Given the description of an element on the screen output the (x, y) to click on. 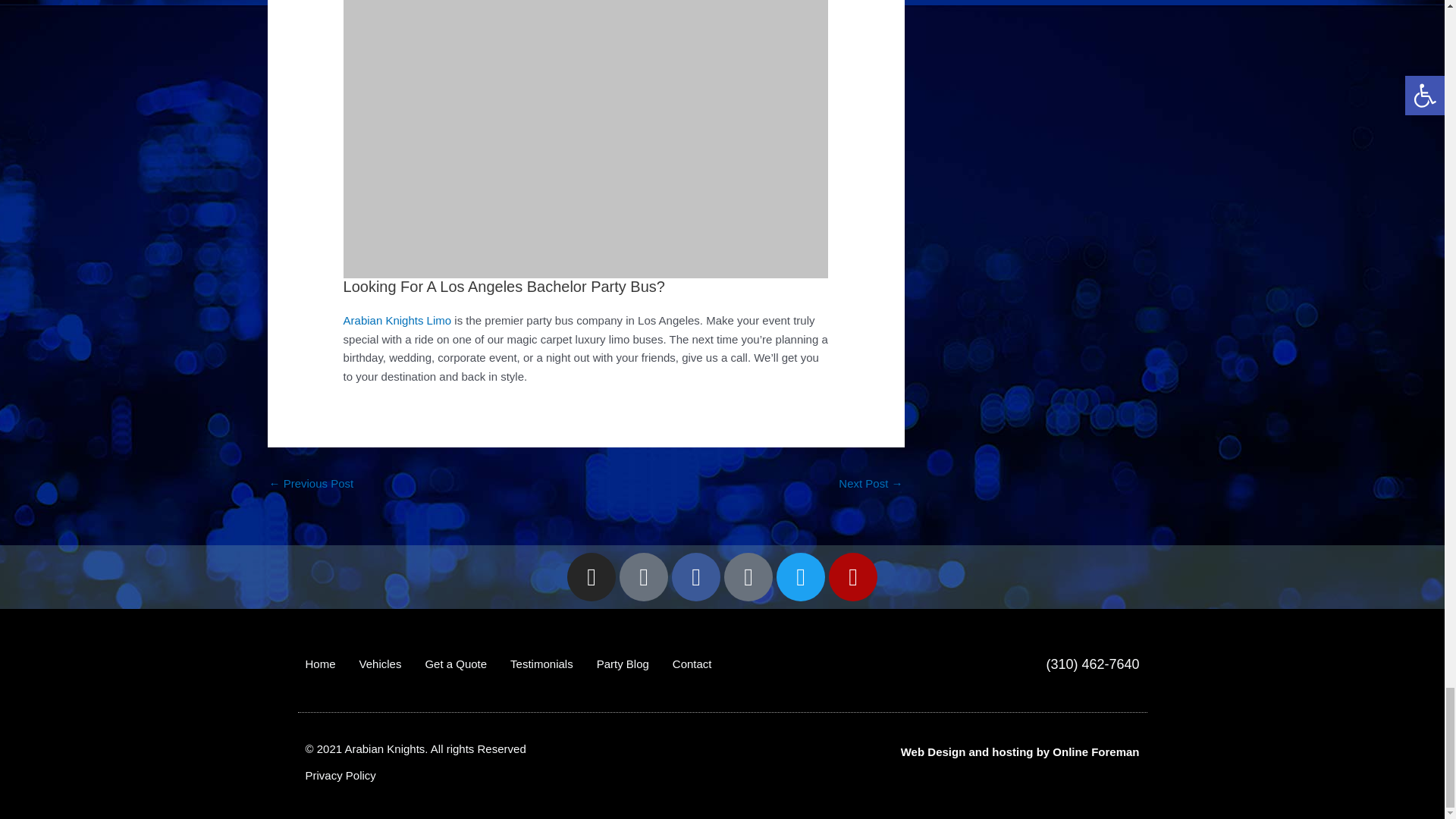
How to Figure a Tip for an LA Party Bus Rental (310, 484)
Arabian Knights Limo (397, 319)
Google (748, 576)
More Great Reasons To Rent a Los Angeles Party Limo (870, 484)
Tiktok (644, 576)
Facebook-f (695, 576)
Twitter (800, 576)
Instagram (591, 576)
